Given the description of an element on the screen output the (x, y) to click on. 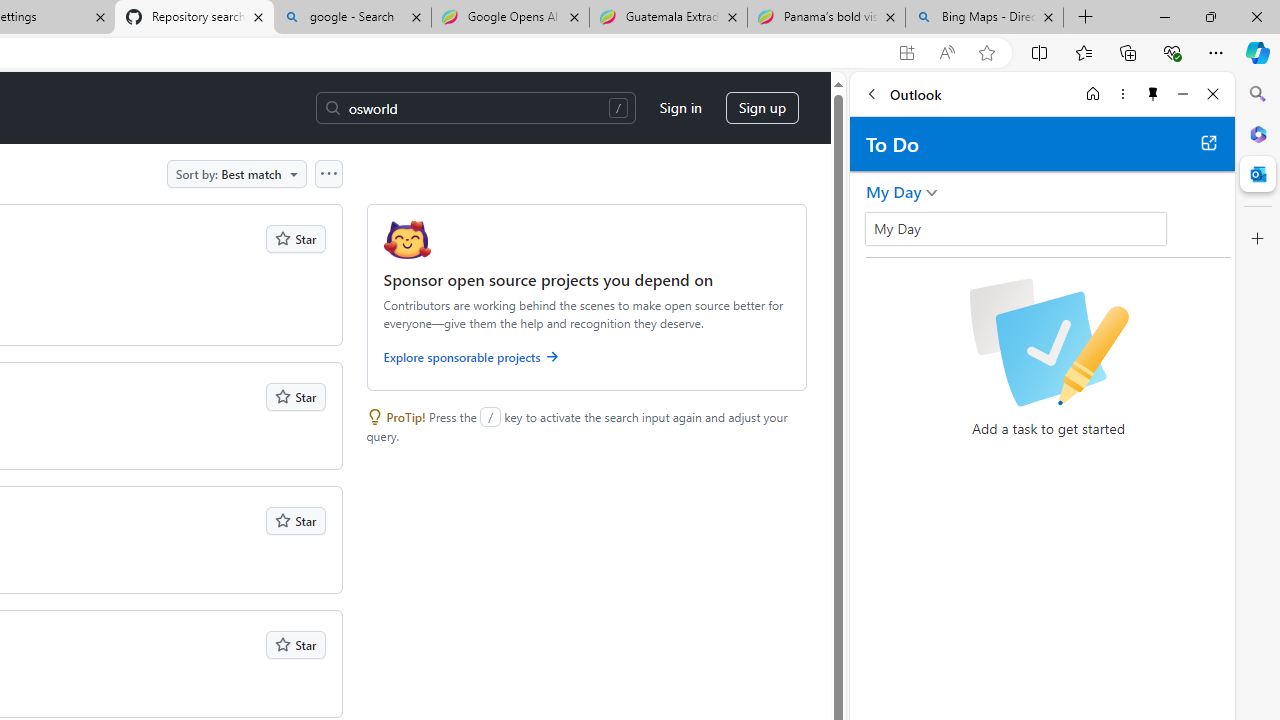
Google Opens AI Academy for Startups - Nearshore Americas (509, 17)
Sign in (680, 107)
Open in new tab (1208, 142)
Sort by: Best match (236, 173)
